Given the description of an element on the screen output the (x, y) to click on. 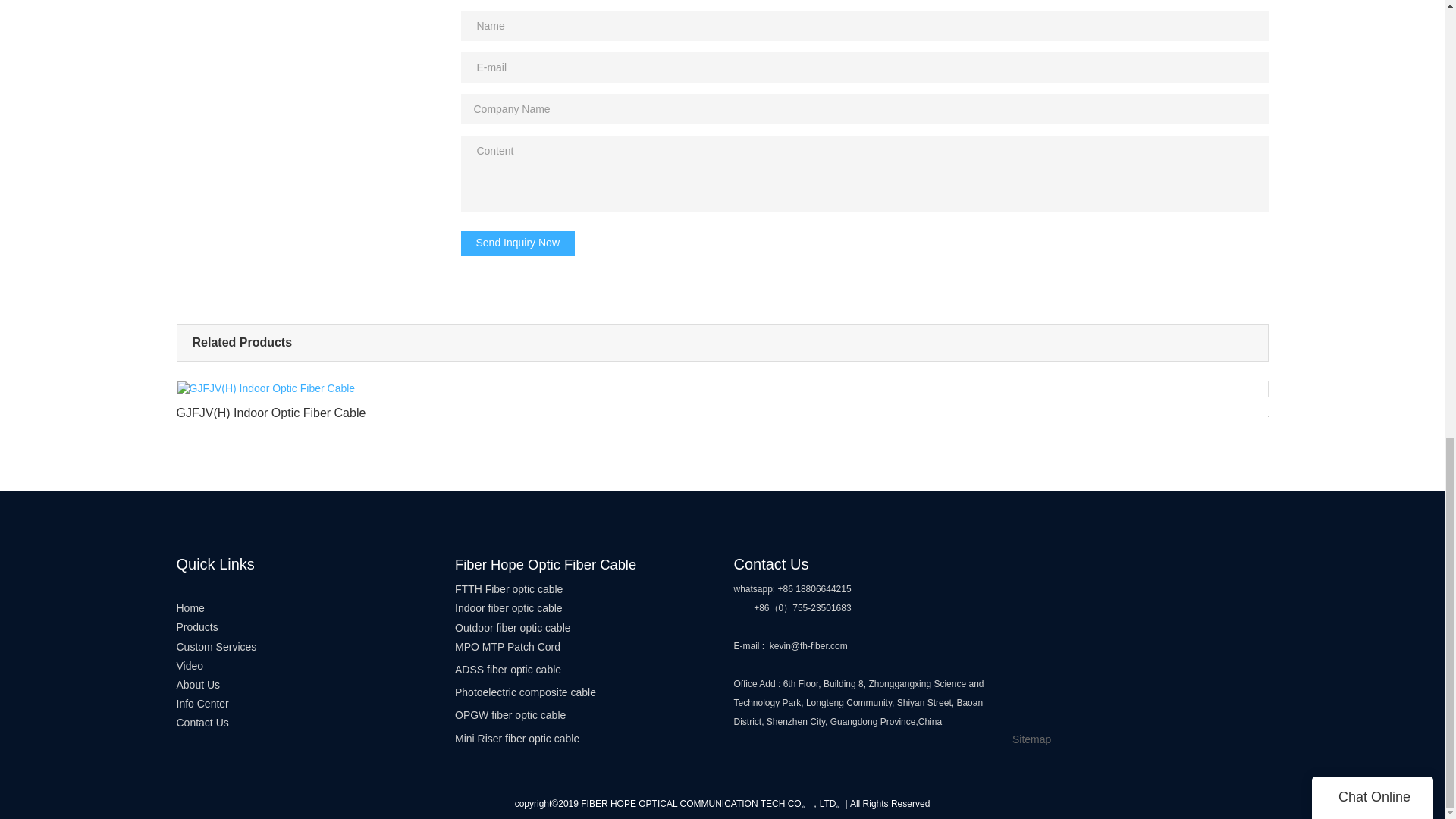
Send Inquiry Now (518, 242)
